Given the description of an element on the screen output the (x, y) to click on. 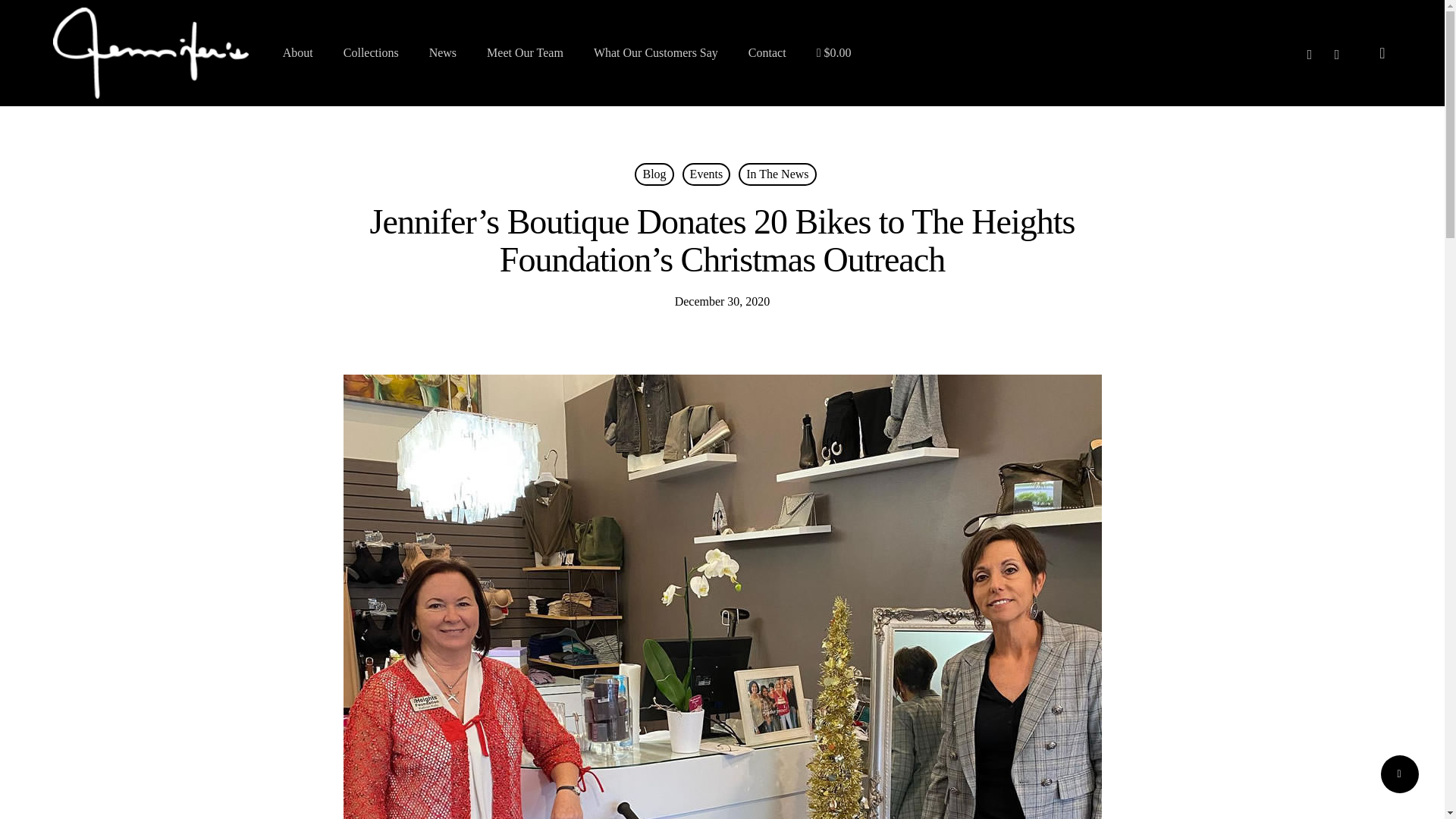
About (297, 52)
Collections (370, 52)
News (443, 52)
Start shopping (833, 52)
